Given the description of an element on the screen output the (x, y) to click on. 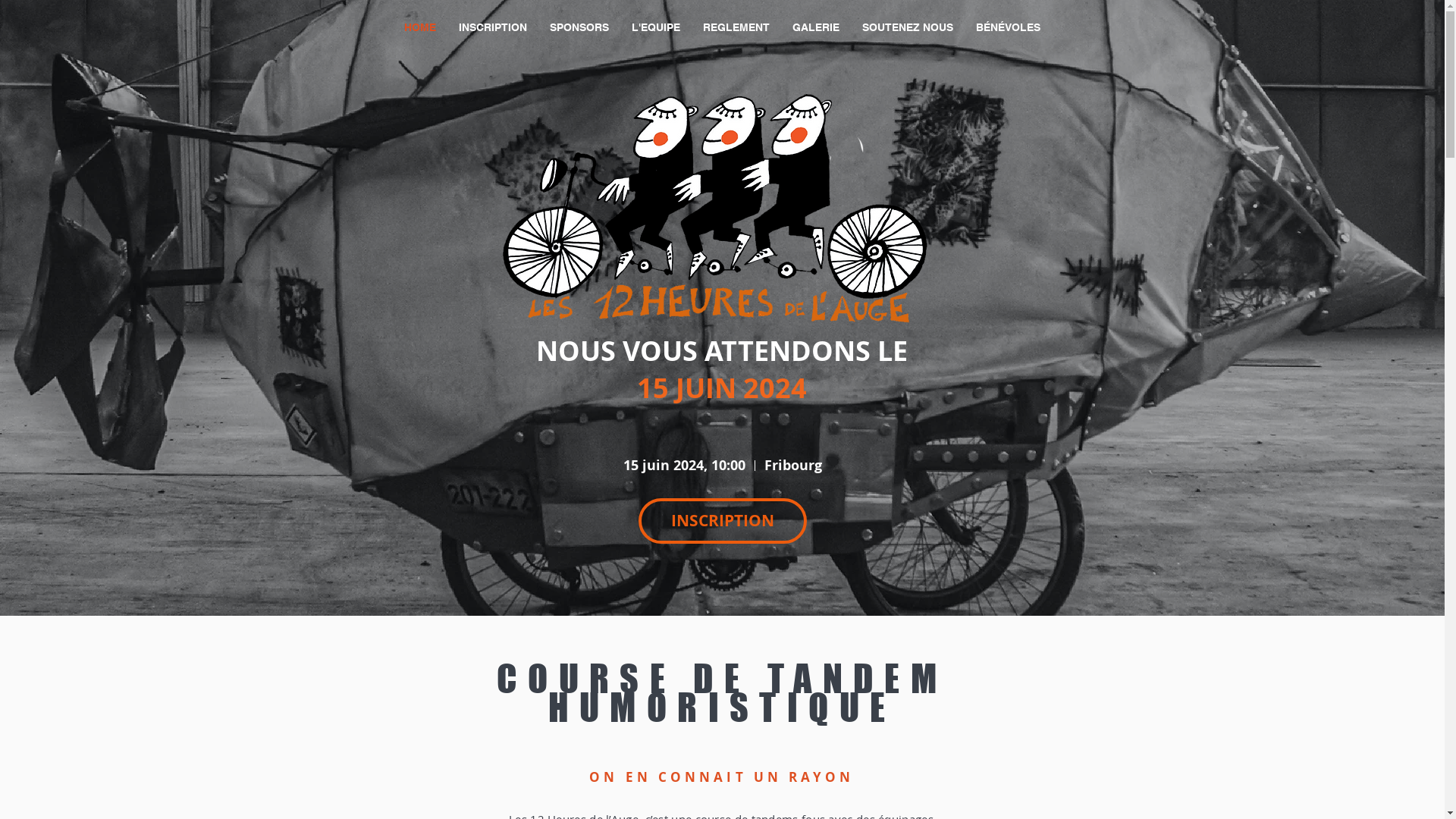
REGLEMENT Element type: text (736, 27)
HOME Element type: text (419, 27)
SPONSORS Element type: text (579, 27)
GALERIE Element type: text (815, 27)
12heures logo.png Element type: hover (727, 208)
L'EQUIPE Element type: text (655, 27)
INSCRIPTION Element type: text (722, 520)
SOUTENEZ NOUS Element type: text (907, 27)
INSCRIPTION Element type: text (492, 27)
